Given the description of an element on the screen output the (x, y) to click on. 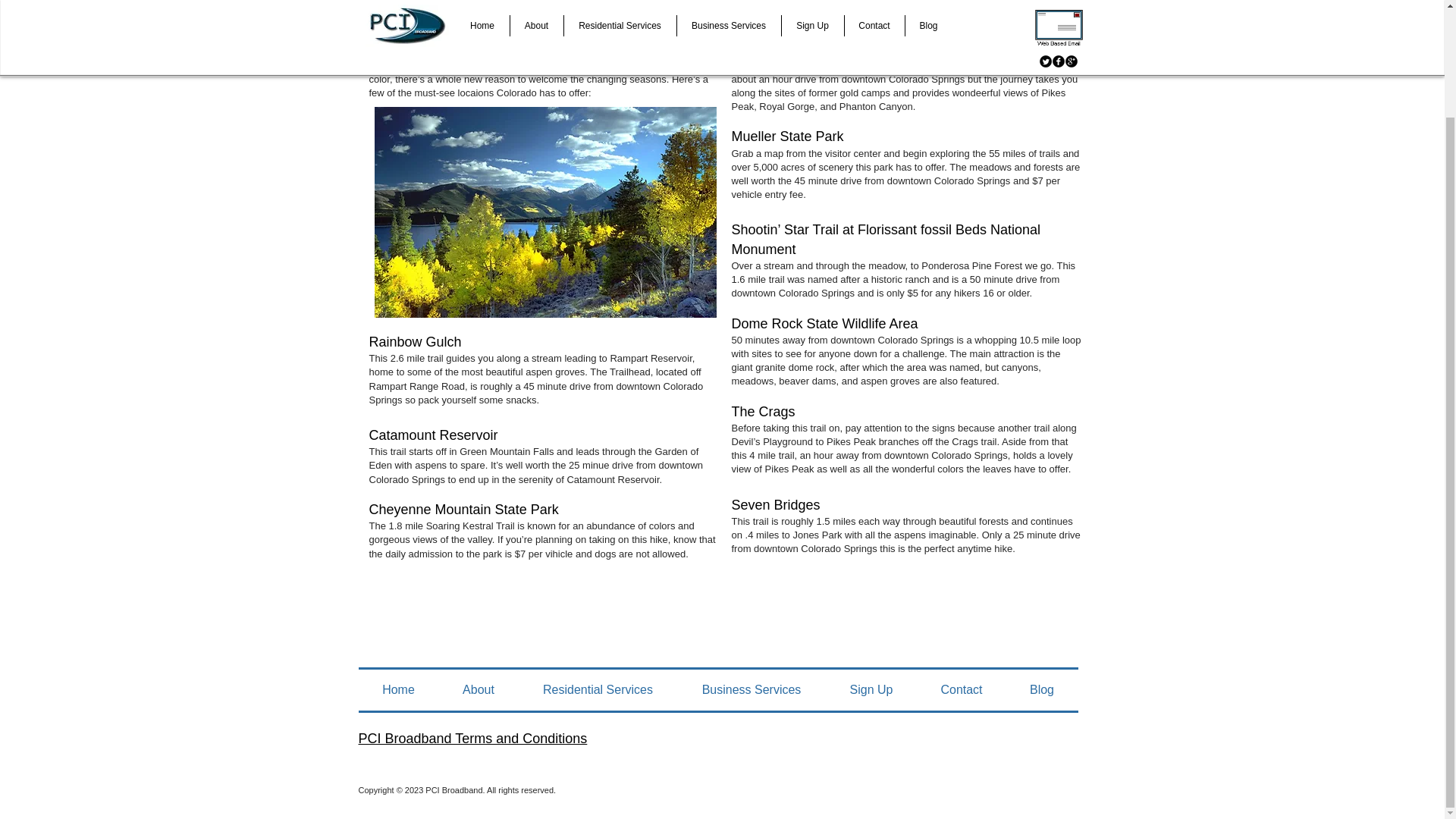
Contact (961, 689)
About (478, 689)
Business Services (751, 689)
Residential Services (598, 689)
Blog (1041, 689)
Home (398, 689)
Sign Up (871, 689)
PCI Broadband Terms and Conditions (472, 738)
